Given the description of an element on the screen output the (x, y) to click on. 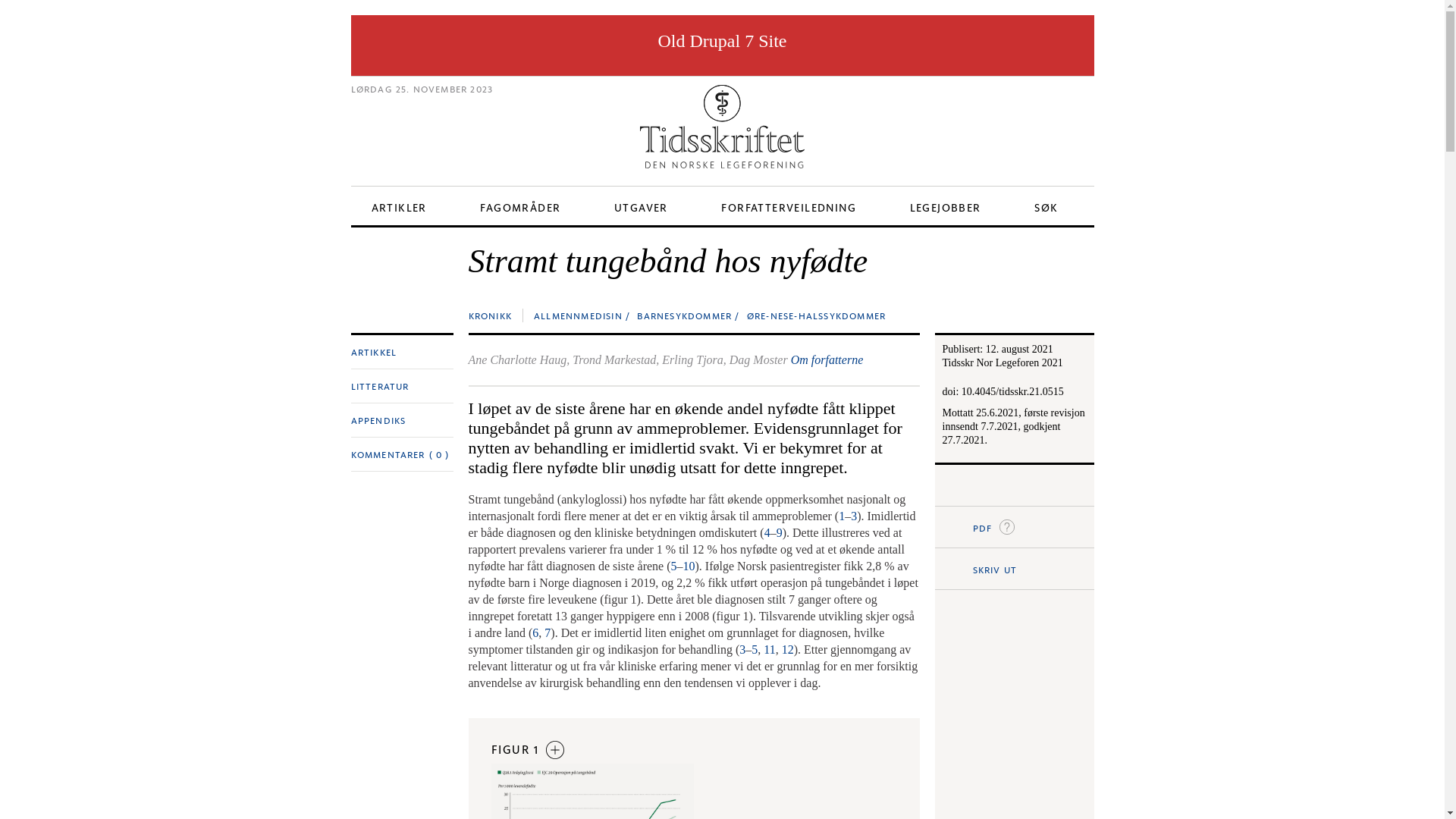
  Element type: text (952, 484)
11 Element type: text (769, 649)
10 Element type: text (689, 565)
ARTIKLER Element type: text (398, 206)
PDF Element type: text (1013, 526)
APPENDIKS Element type: text (377, 420)
Hopp til hovedinnhold Element type: text (686, 17)
LEGEJOBBER Element type: text (945, 206)
UTGAVER Element type: text (641, 206)
9 Element type: text (779, 532)
3 Element type: text (853, 515)
LITTERATUR Element type: text (379, 385)
FORFATTERVEILEDNING Element type: text (788, 206)
Hjem Element type: hover (722, 122)
3 Element type: text (742, 649)
ARTIKKEL Element type: text (373, 351)
KOMMENTARER( 0 ) Element type: text (399, 454)
12 Element type: text (787, 649)
6 Element type: text (535, 632)
ALLMENNMEDISIN Element type: text (577, 315)
7 Element type: text (547, 632)
KRONIKK Element type: text (489, 315)
1 Element type: text (841, 515)
BARNESYKDOMMER Element type: text (684, 315)
  Element type: text (988, 484)
5 Element type: text (674, 565)
5 Element type: text (754, 649)
SKRIV UT Element type: text (1013, 568)
4 Element type: text (767, 532)
